Given the description of an element on the screen output the (x, y) to click on. 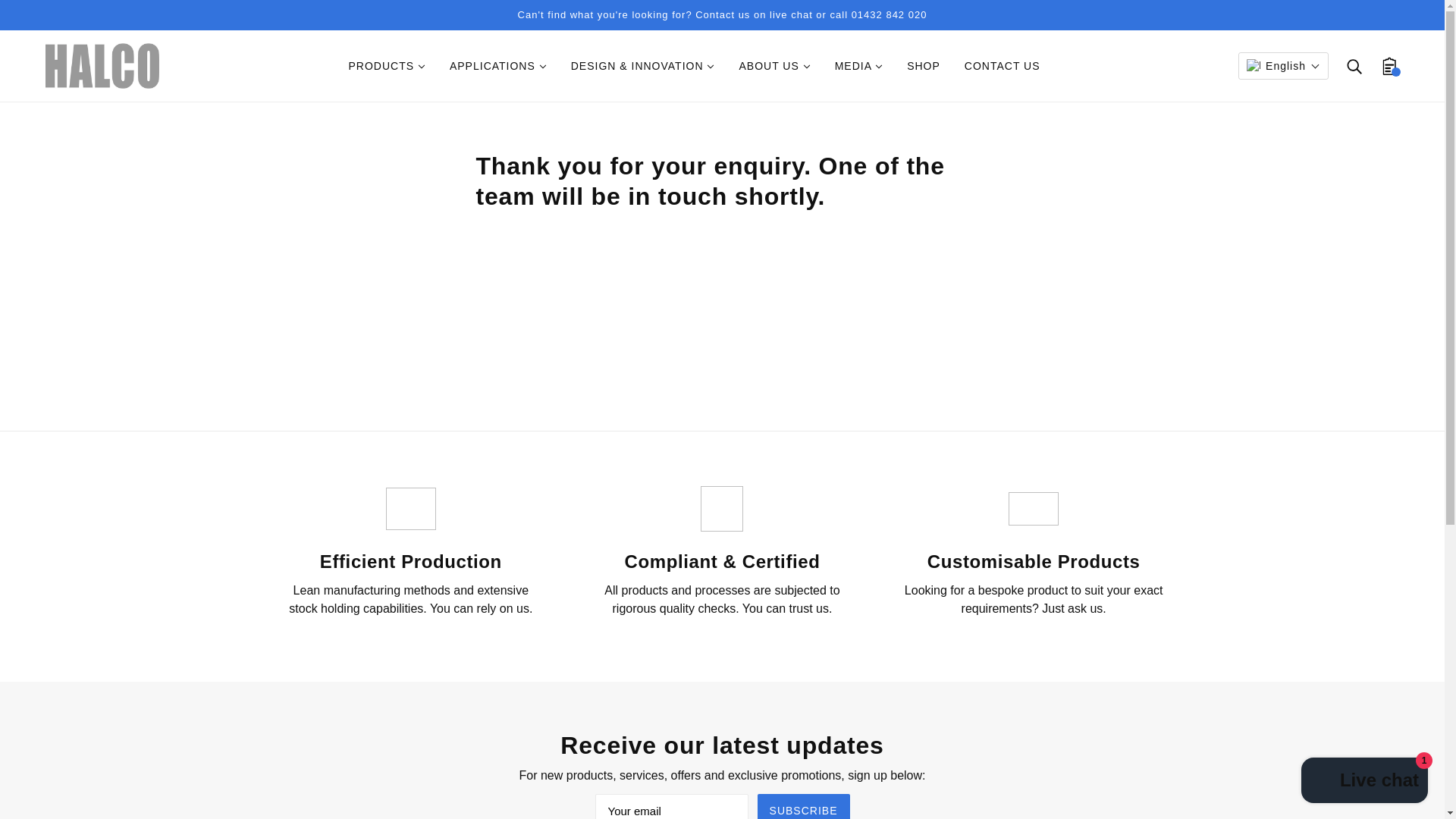
HALCO Europe (101, 64)
PRODUCTS (386, 65)
